Given the description of an element on the screen output the (x, y) to click on. 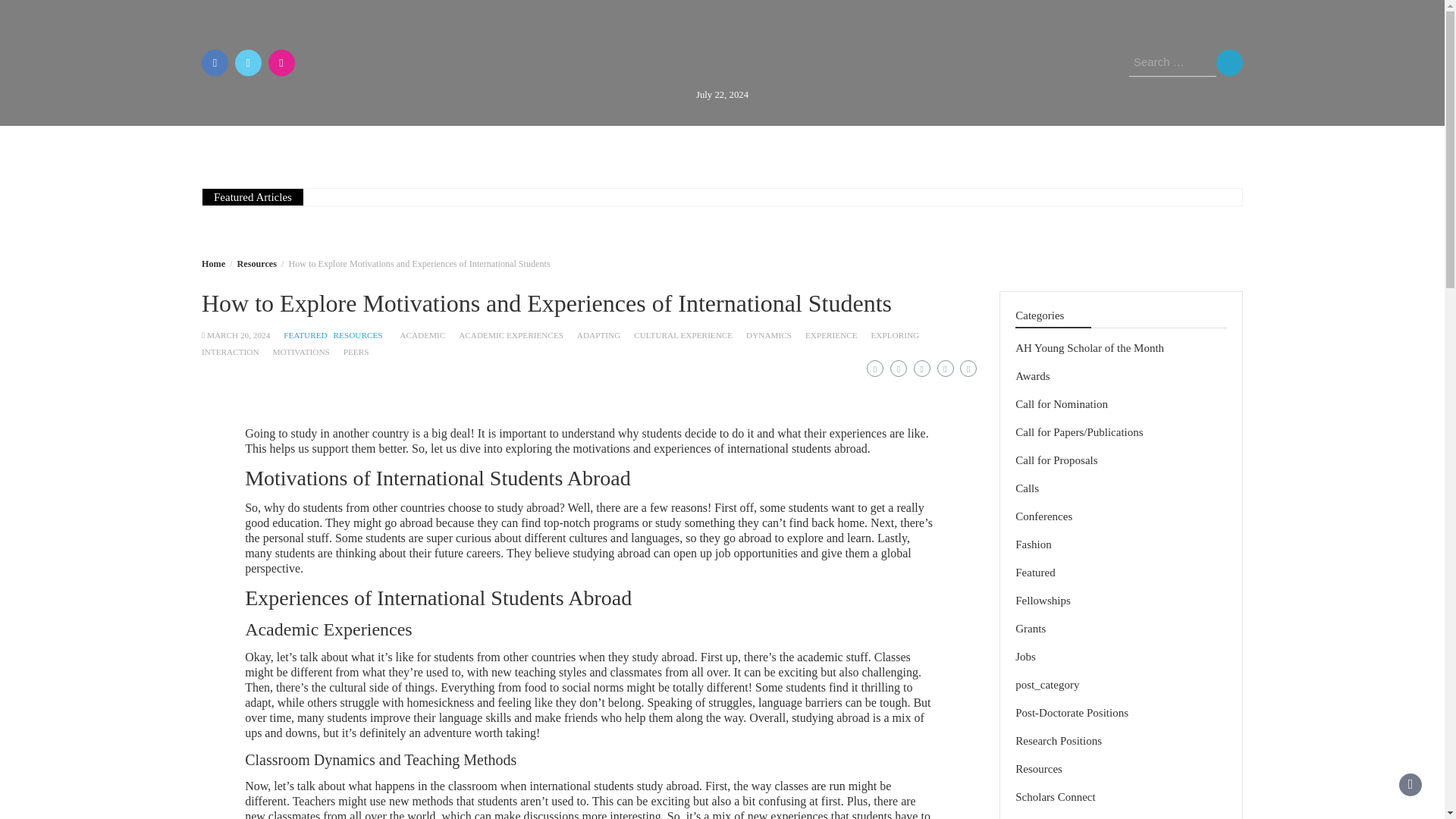
Home (350, 146)
ACADEMIC (421, 334)
Search (1229, 62)
CULTURAL EXPERIENCE (682, 334)
Privacy Policy (1077, 146)
Search (1229, 62)
Home (213, 263)
MARCH 26, 2024 (237, 334)
Resources (772, 146)
DYNAMICS (768, 334)
About (416, 146)
RESOURCES (357, 334)
EXPERIENCE (831, 334)
ADAPTING (598, 334)
